Given the description of an element on the screen output the (x, y) to click on. 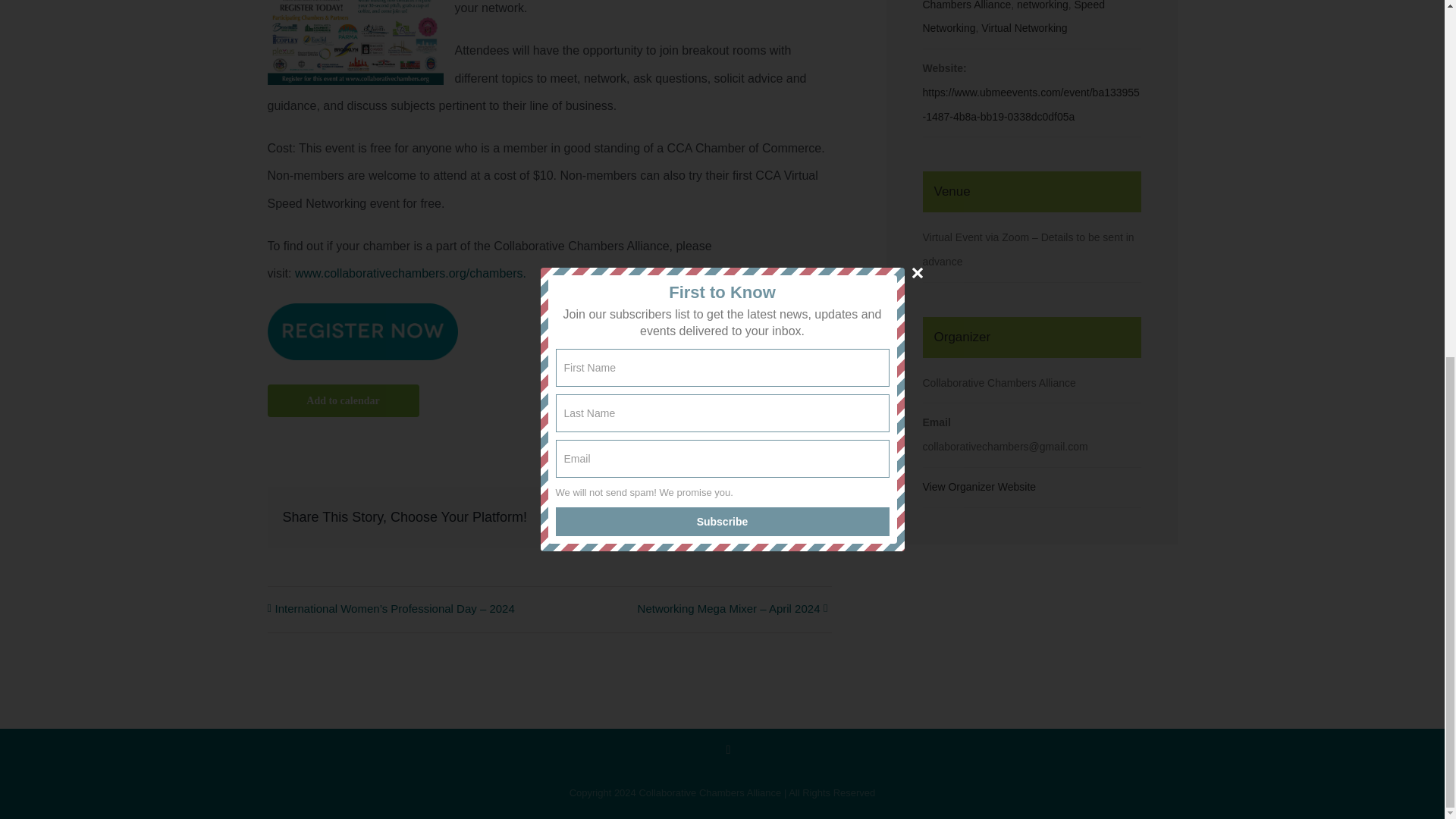
networking (1042, 5)
Collaborative Chambers Alliance (1012, 5)
Add to calendar (341, 400)
